Given the description of an element on the screen output the (x, y) to click on. 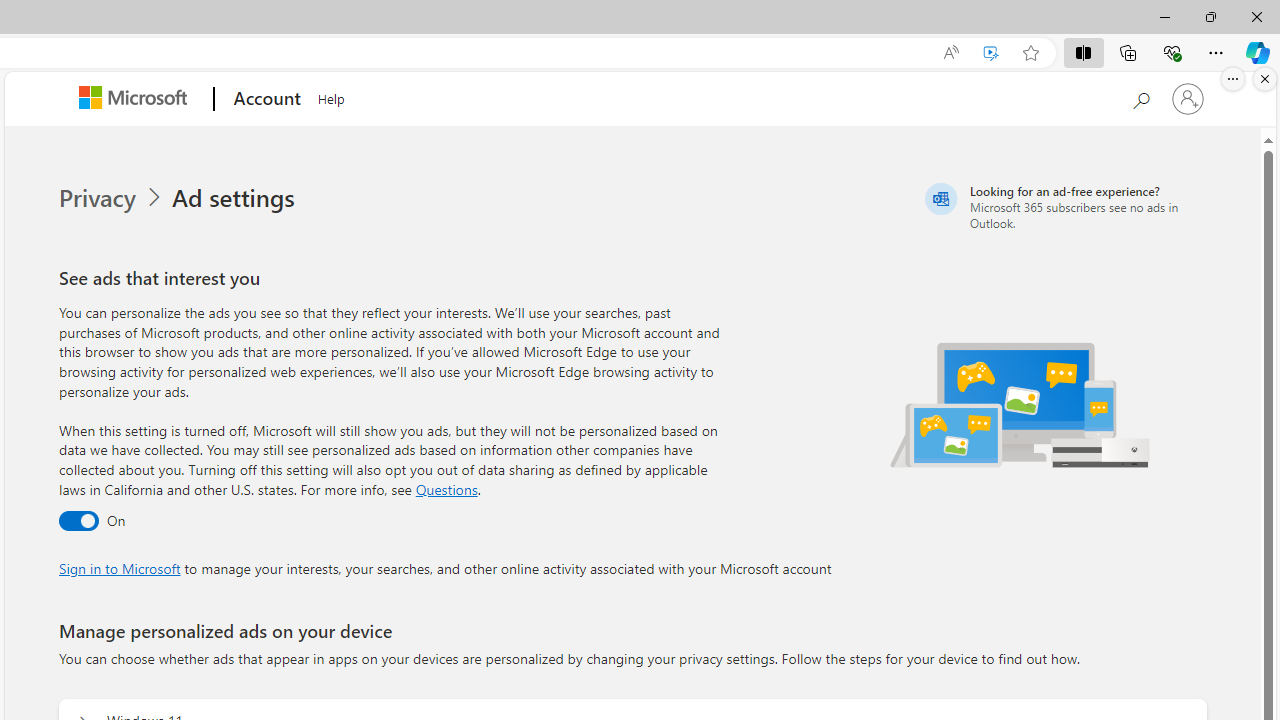
Looking for an ad-free experience? (1063, 206)
Privacy (98, 197)
Settings and more (Alt+F) (1215, 52)
Account (264, 99)
Search Microsoft.com (1140, 97)
Microsoft (136, 99)
Help (331, 96)
More options. (1233, 79)
Sign in to Microsoft (119, 568)
Enhance video (991, 53)
Restore (1210, 16)
Read aloud this page (Ctrl+Shift+U) (950, 53)
Illustration of multiple devices (1021, 403)
Ad settings (236, 197)
Go to Questions section (445, 488)
